Given the description of an element on the screen output the (x, y) to click on. 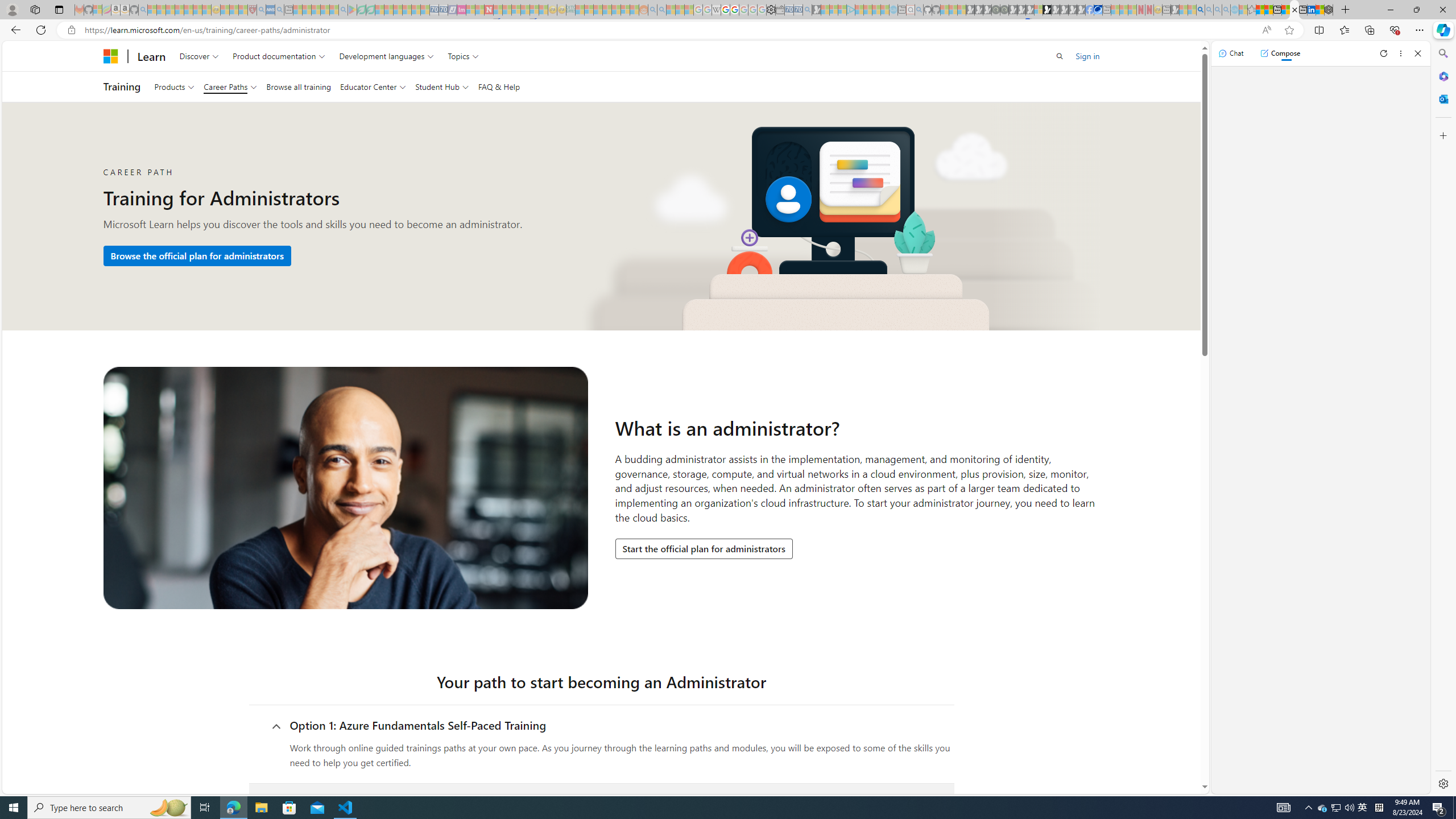
Pets - MSN - Sleeping (324, 9)
FAQ & Help (499, 86)
list of asthma inhalers uk - Search - Sleeping (260, 9)
google - Search - Sleeping (342, 9)
New Report Confirms 2023 Was Record Hot | Watch - Sleeping (188, 9)
Aberdeen, Hong Kong SAR weather forecast | Microsoft Weather (1268, 9)
Training (122, 86)
